Given the description of an element on the screen output the (x, y) to click on. 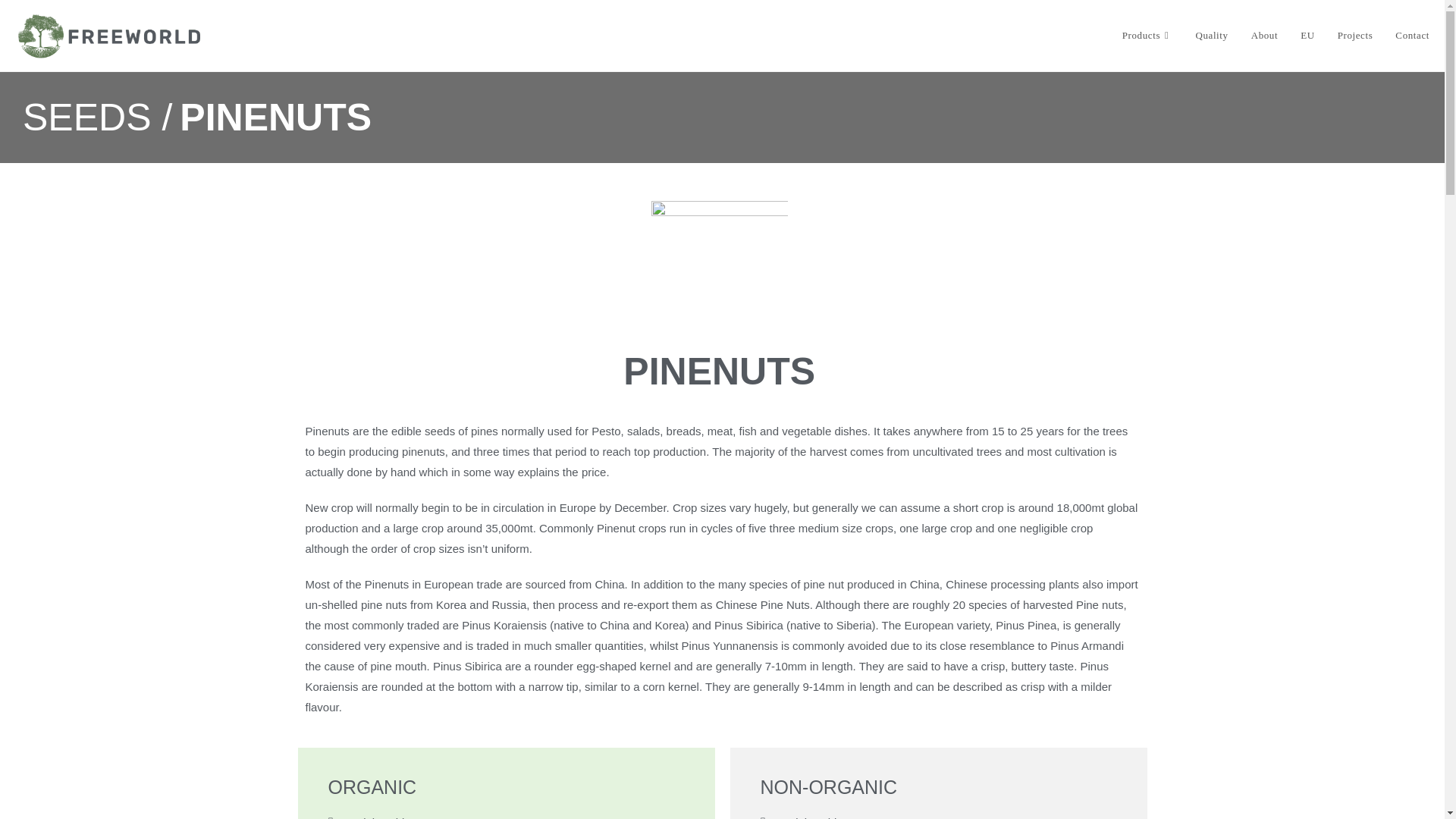
Quality (1211, 35)
Products (1147, 35)
PINENUTS (275, 117)
About (1265, 35)
Contact (1412, 35)
Projects (1355, 35)
